Given the description of an element on the screen output the (x, y) to click on. 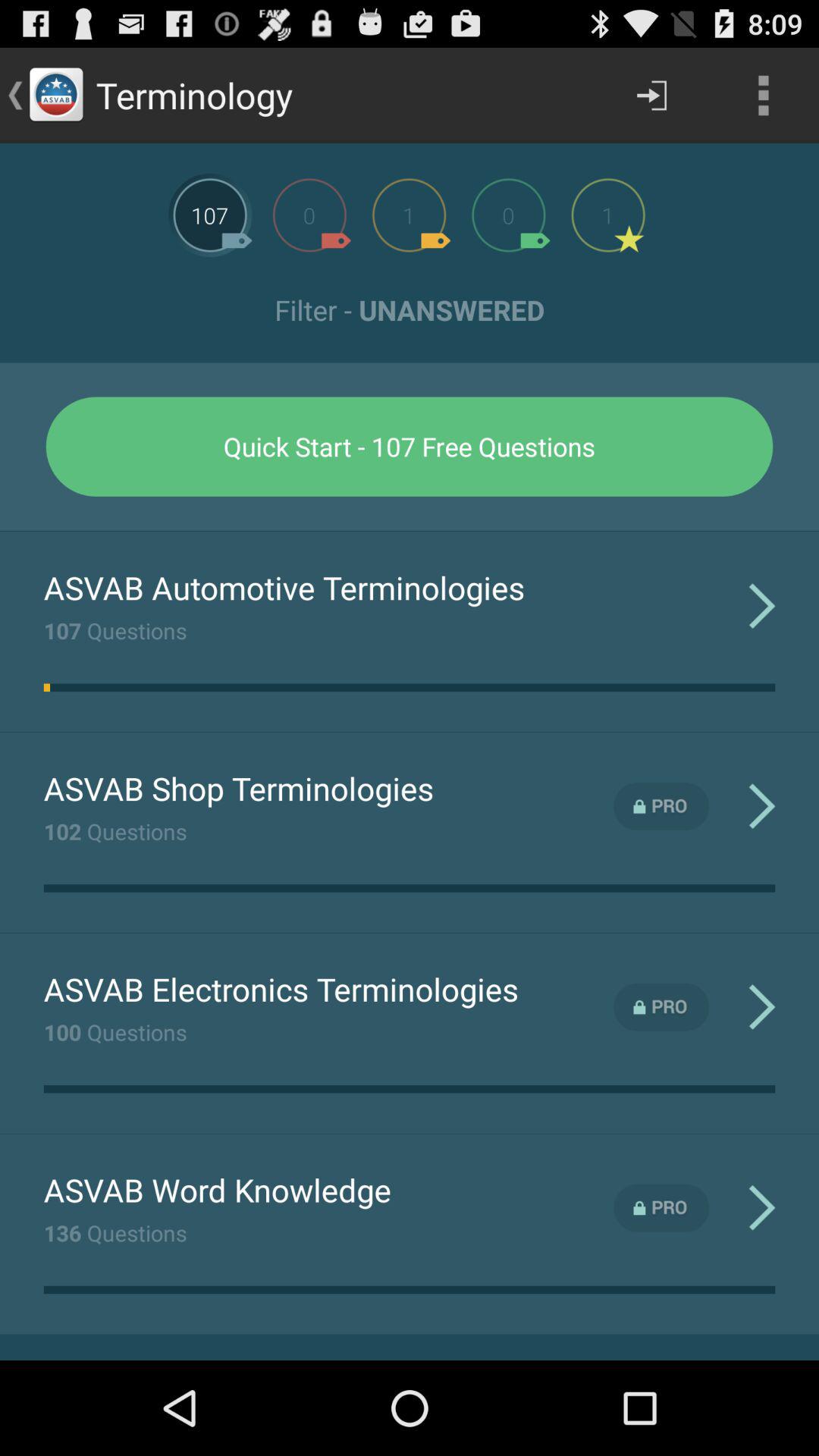
open app below the asvab word knowledge (115, 1232)
